Given the description of an element on the screen output the (x, y) to click on. 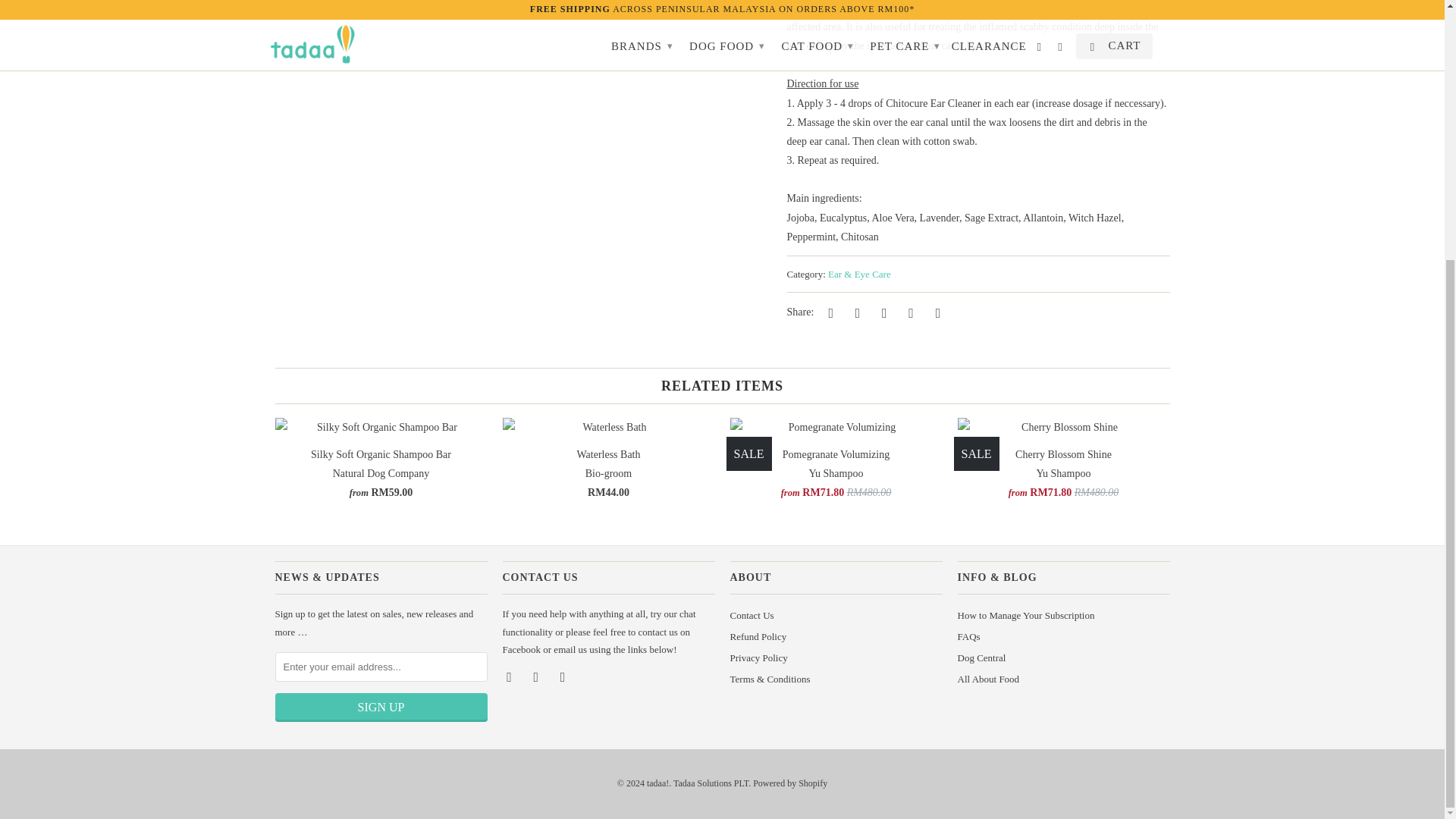
Email this to a friend (935, 312)
Share this on Facebook (855, 312)
Sign Up (380, 706)
Share this on Twitter (828, 312)
Share this on Pinterest (881, 312)
